Given the description of an element on the screen output the (x, y) to click on. 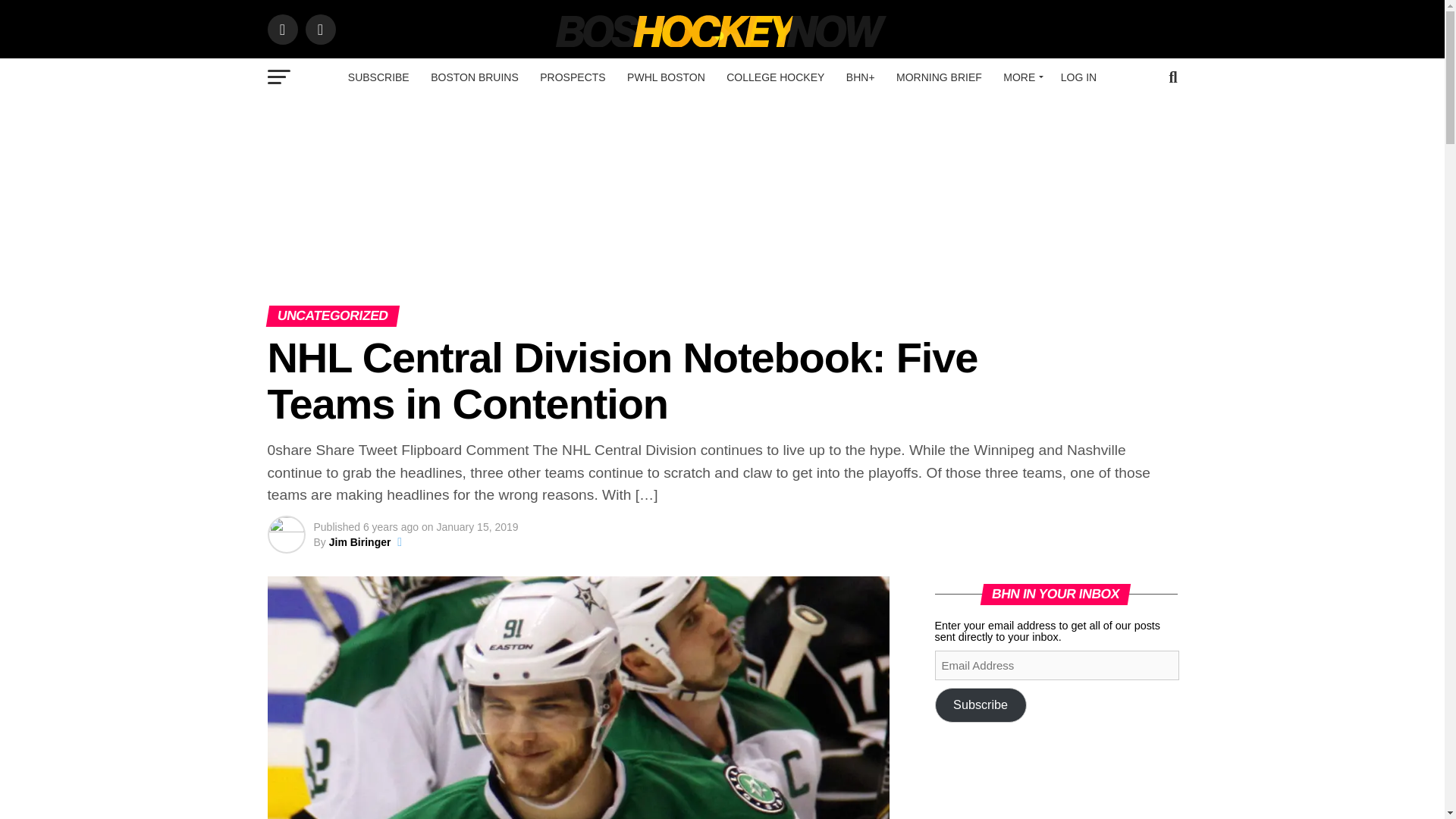
PWHL BOSTON (665, 77)
Posts by Jim Biringer (360, 541)
COLLEGE HOCKEY (774, 77)
SUBSCRIBE (379, 77)
PROSPECTS (572, 77)
BOSTON BRUINS (474, 77)
